Given the description of an element on the screen output the (x, y) to click on. 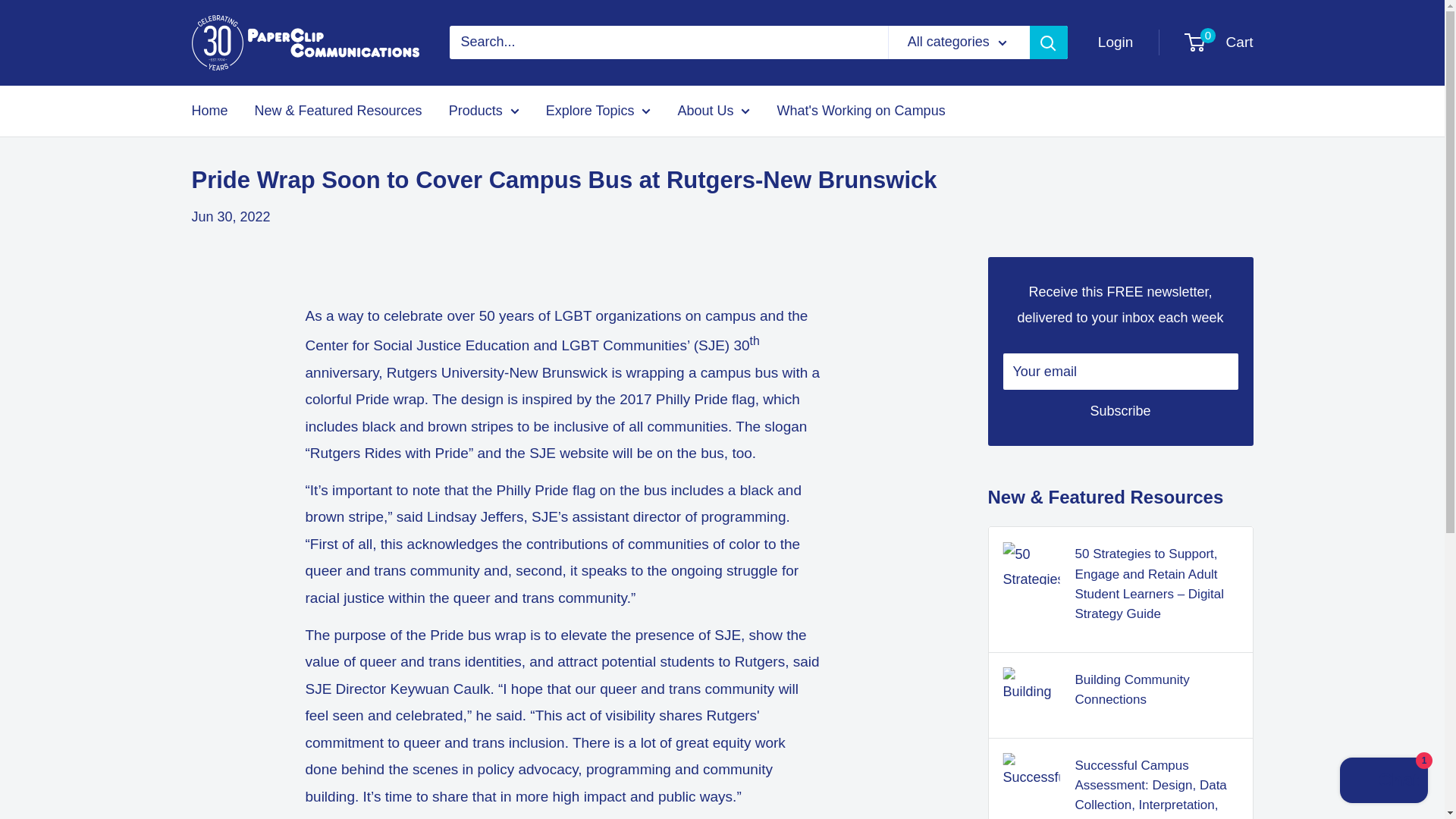
Shopify online store chat (1383, 781)
